Given the description of an element on the screen output the (x, y) to click on. 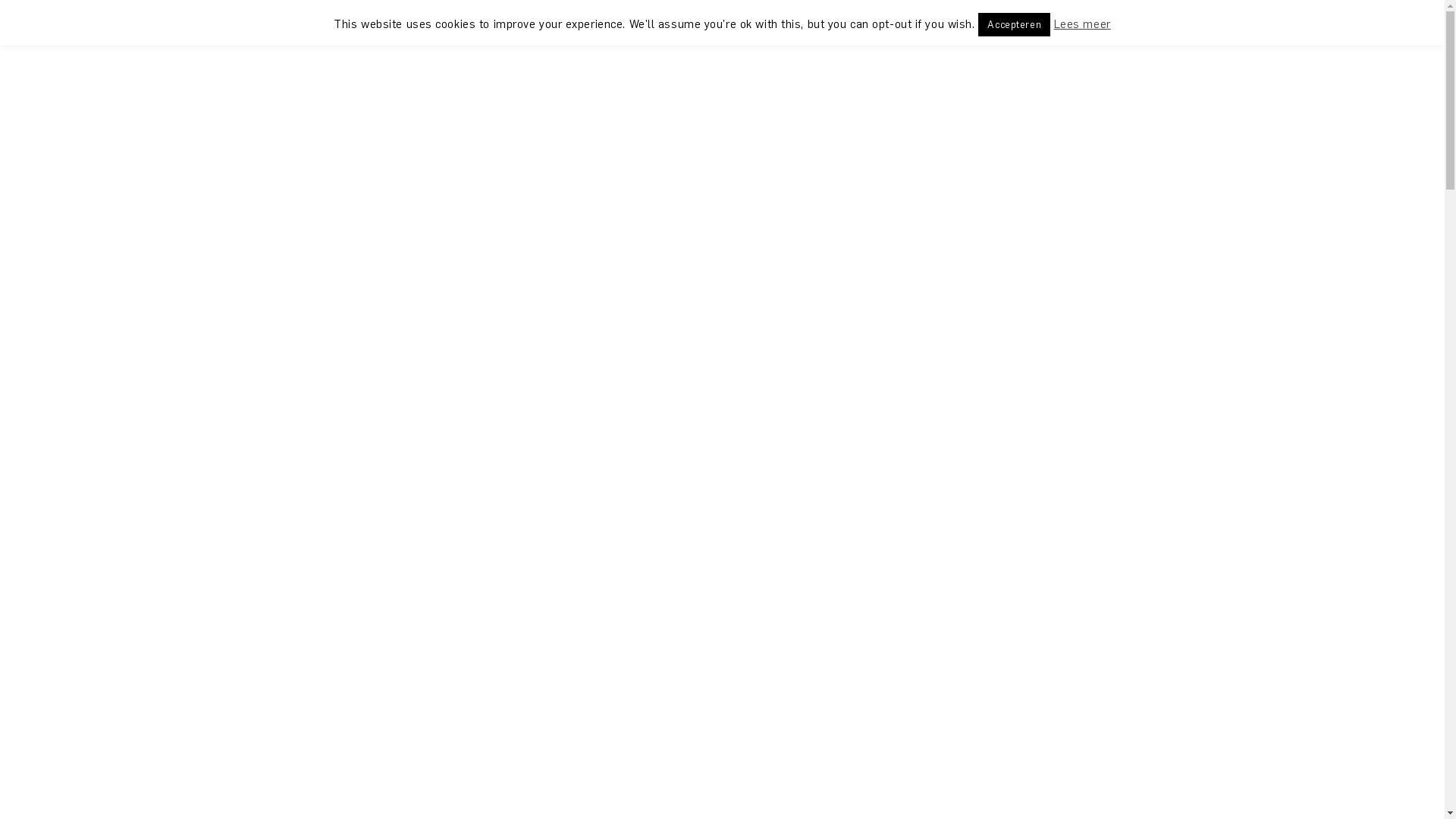
Lees meer Element type: text (1082, 24)
Accepteren Element type: text (1014, 24)
